Given the description of an element on the screen output the (x, y) to click on. 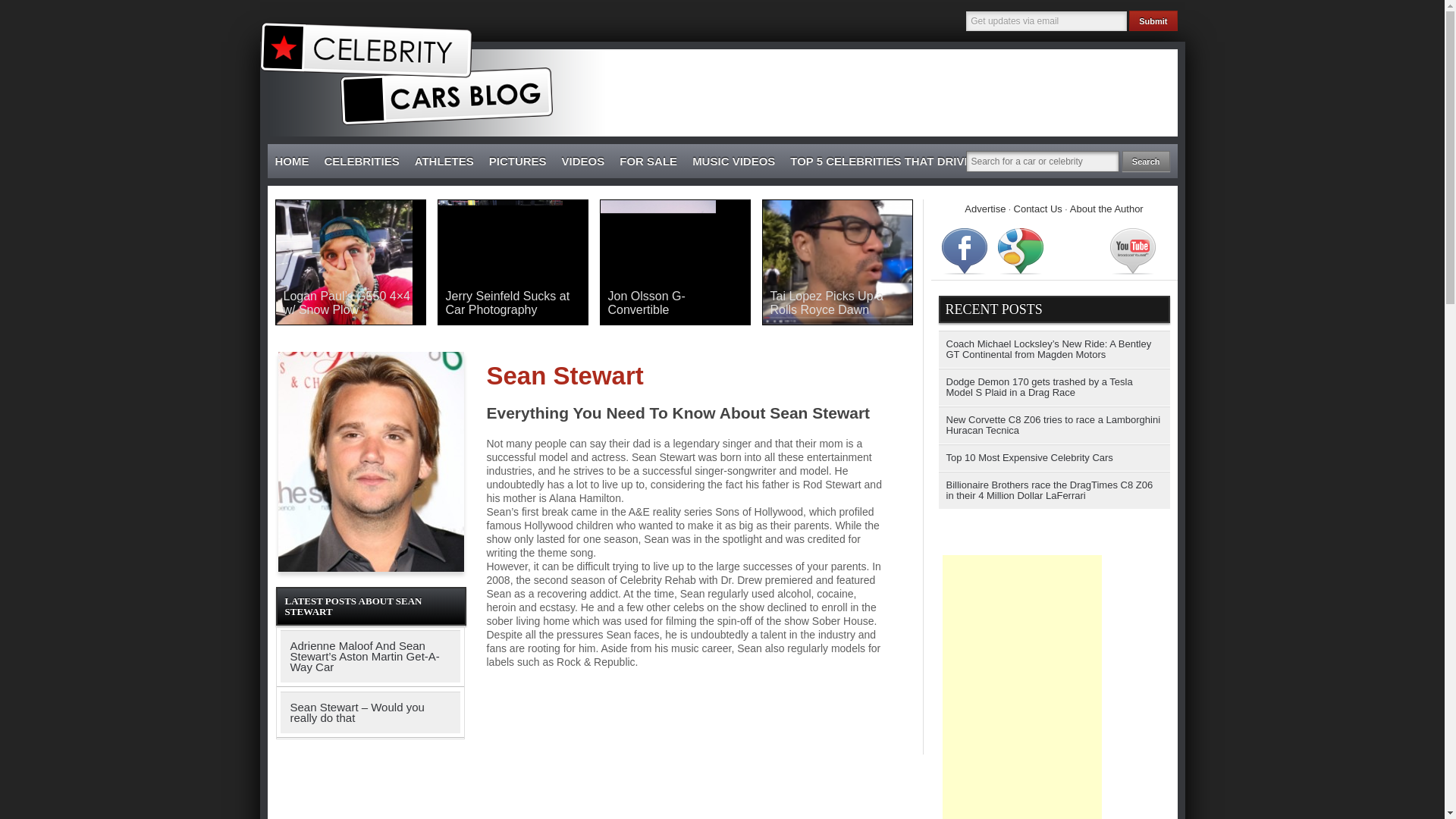
Get updates via email (1046, 21)
CELEBRITIES (362, 161)
About the Author (1106, 208)
Twitter (1076, 250)
PICTURES (517, 161)
FOR SALE (647, 161)
MUSIC VIDEOS (733, 161)
Jerry Seinfeld Sucks at Car Photography (513, 302)
Search (1146, 160)
Search (1146, 160)
Top 10 Most Expensive Celebrity Cars (1054, 457)
HOME (290, 161)
